Given the description of an element on the screen output the (x, y) to click on. 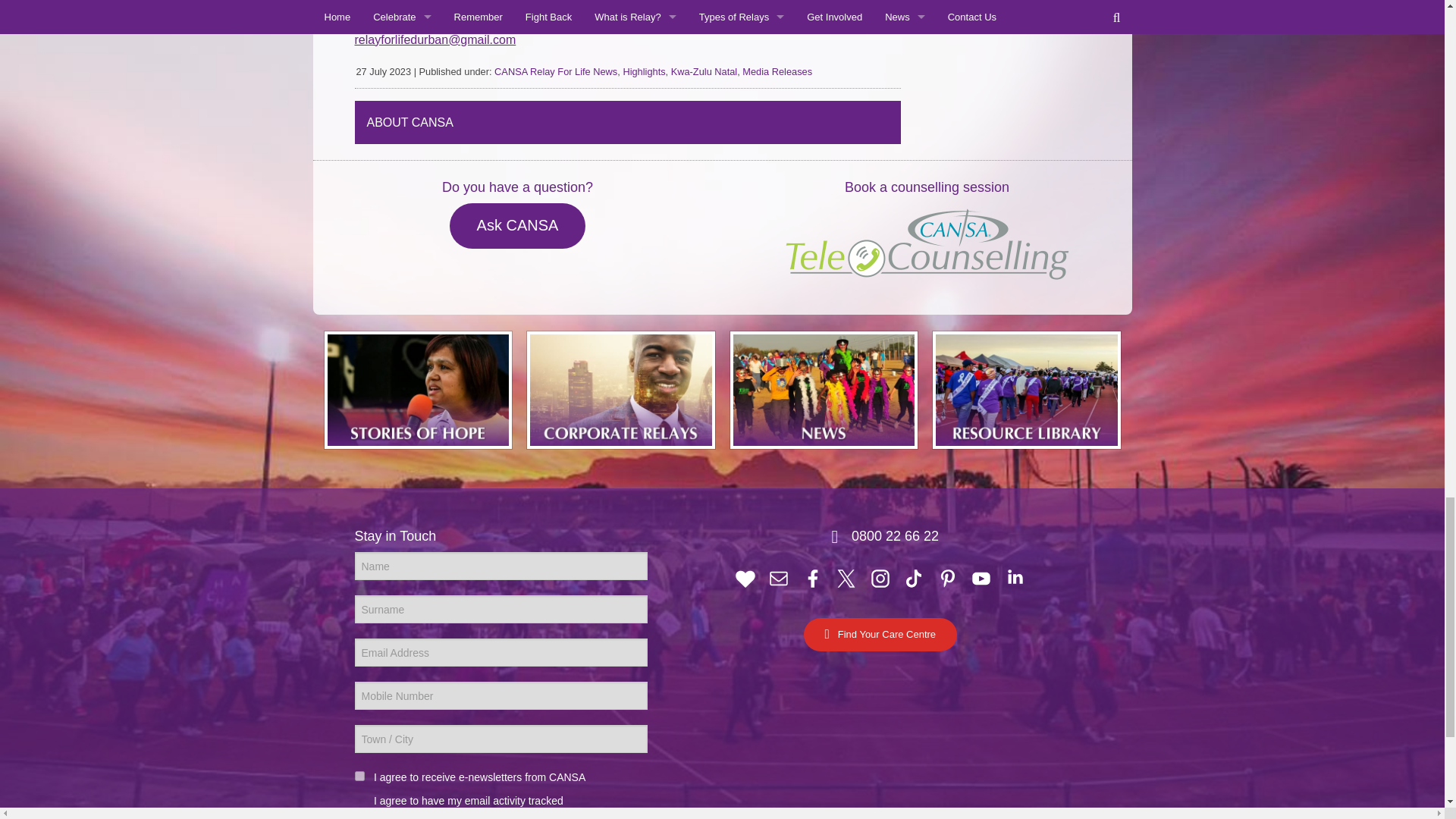
Follow on twitter (846, 576)
CANSA on YouTube (980, 576)
on (360, 776)
CANSA on Instagram (879, 576)
Like Our Facebook Page (812, 576)
Donate to support the fight against cancer (745, 576)
Pin it! (947, 576)
CANSA on TikTok (913, 576)
LinkedIn (1015, 576)
Subscribe to Our eNewsletter (777, 576)
on (360, 814)
